Given the description of an element on the screen output the (x, y) to click on. 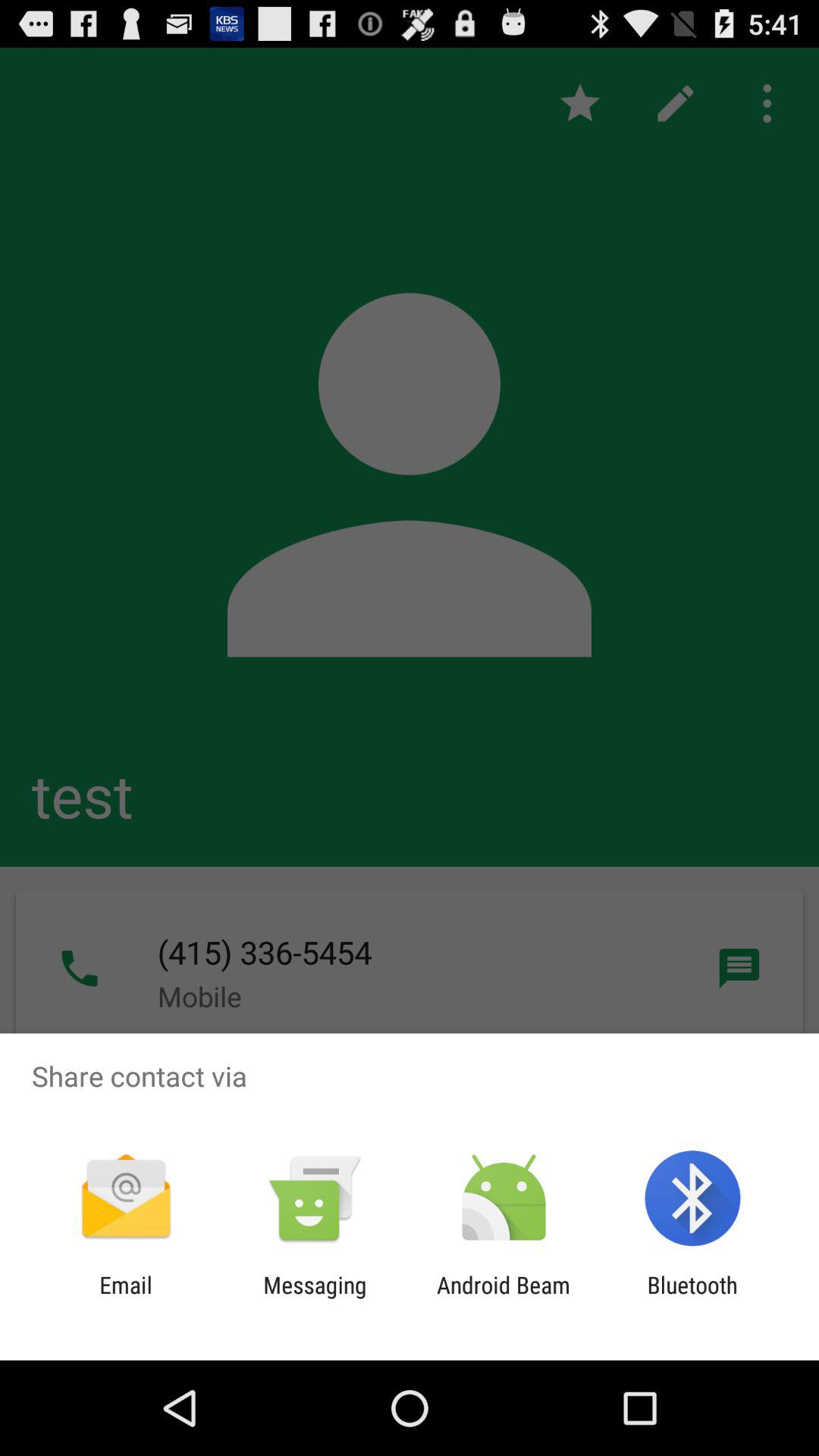
swipe until the messaging app (314, 1298)
